Given the description of an element on the screen output the (x, y) to click on. 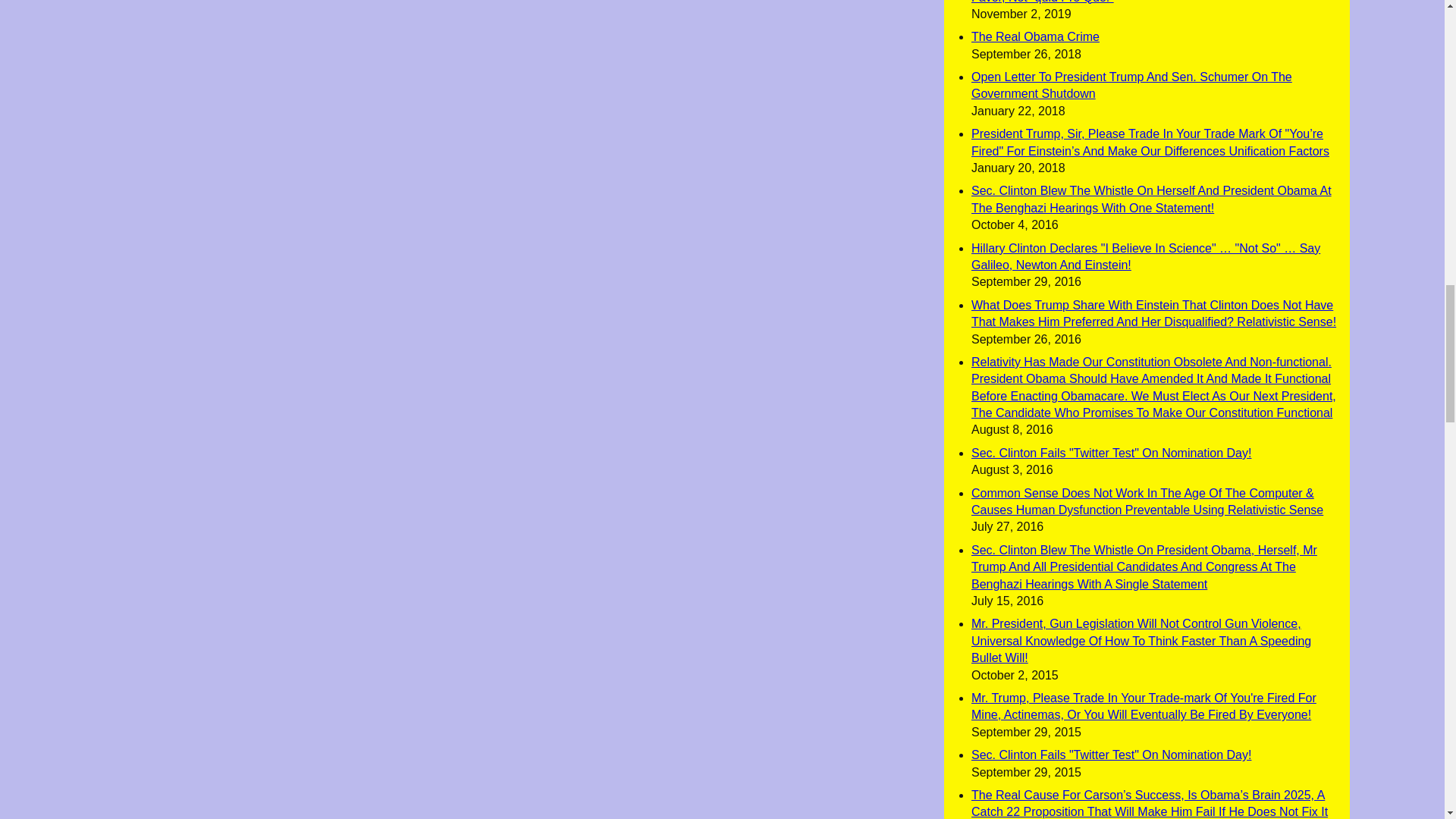
Sec. Clinton Fails "Twitter Test" On Nomination Day! (1110, 754)
Sec. Clinton Fails "Twitter Test" On Nomination Day! (1110, 452)
The Real Obama Crime (1035, 36)
